Given the description of an element on the screen output the (x, y) to click on. 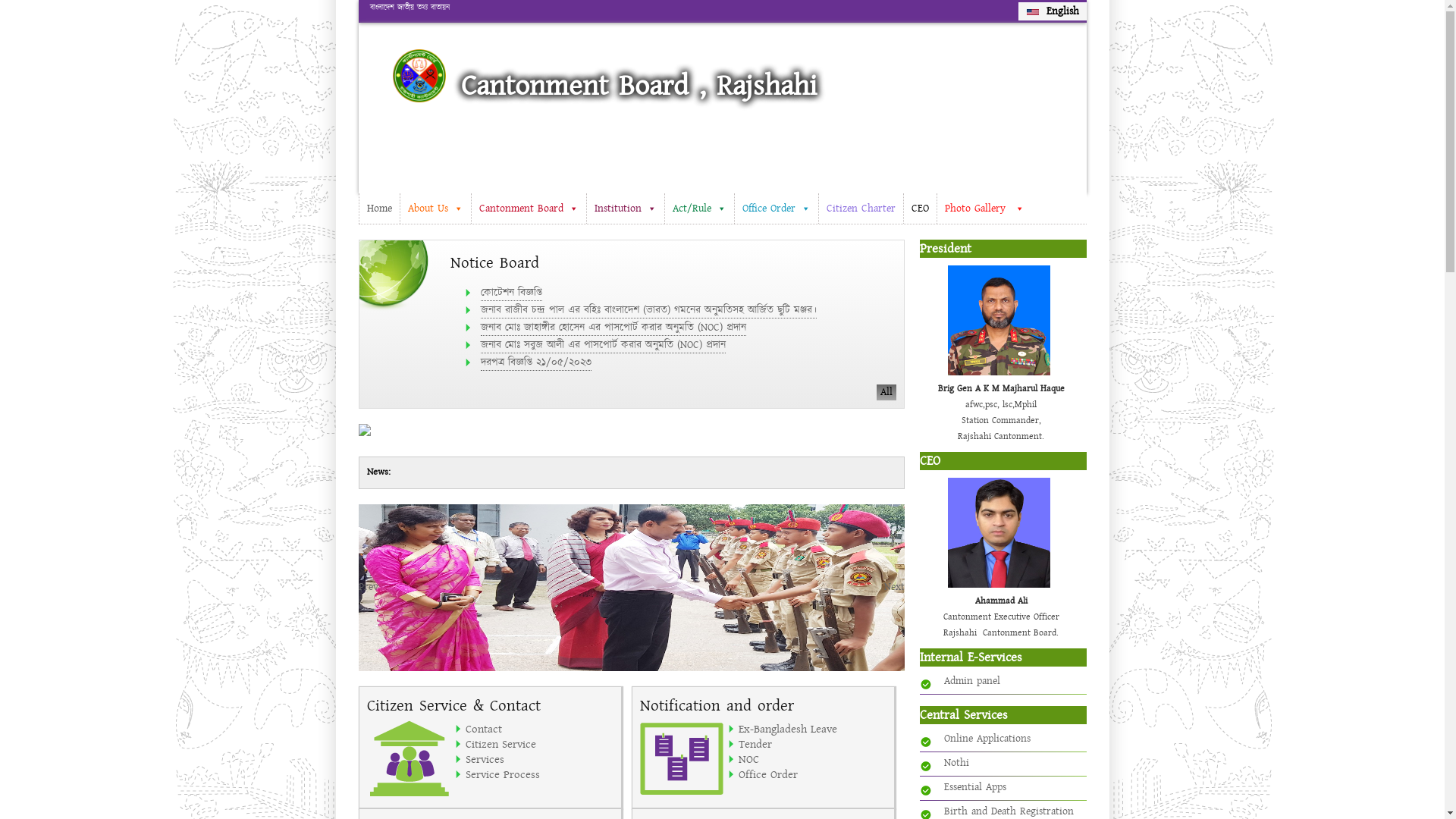
Home Element type: text (377, 208)
About Us Element type: text (434, 208)
Contact Element type: text (539, 728)
Services Element type: text (539, 758)
Tender Element type: text (812, 743)
Photo Gallery Element type: text (983, 208)
Service Process Element type: text (539, 774)
Online Applications Element type: text (986, 738)
Essential Apps Element type: text (974, 786)
Office Order Element type: text (776, 208)
NOC Element type: text (812, 758)
Prev Element type: text (367, 587)
Cantonment Board , Rajshahi Element type: text (638, 85)
All Element type: text (886, 392)
English Element type: text (1052, 11)
Act/Rule Element type: text (699, 208)
Citizen Service Element type: text (539, 743)
Office Order Element type: text (812, 774)
CEO Element type: text (918, 208)
Next Element type: text (894, 587)
Home Element type: hover (418, 75)
Admin panel Element type: text (971, 680)
Institution Element type: text (624, 208)
All Element type: text (873, 472)
Nothi Element type: text (955, 762)
Ex-Bangladesh Leave Element type: text (812, 728)
Cantonment Board Element type: text (527, 208)
Citizen Charter Element type: text (859, 208)
